Given the description of an element on the screen output the (x, y) to click on. 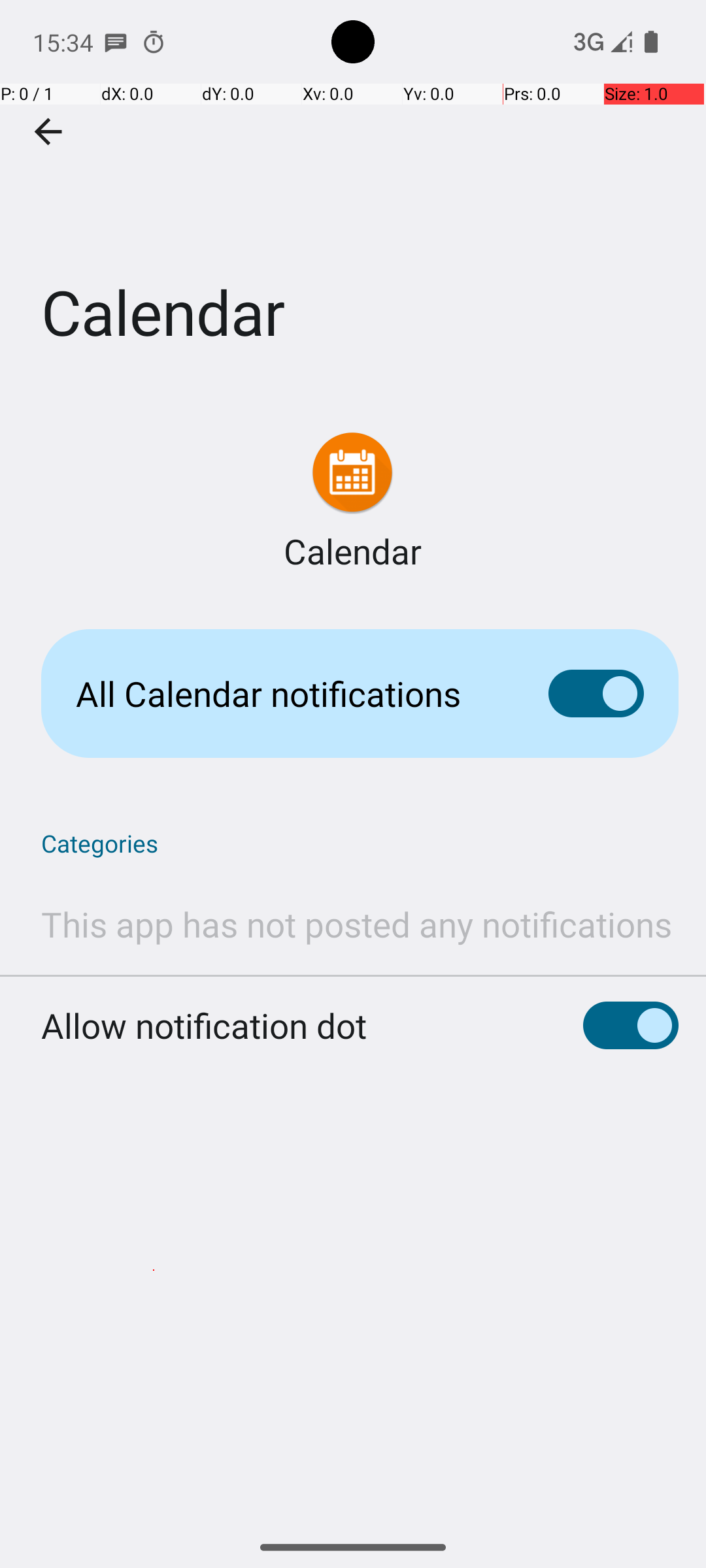
This app has not posted any notifications Element type: android.widget.TextView (356, 923)
